Given the description of an element on the screen output the (x, y) to click on. 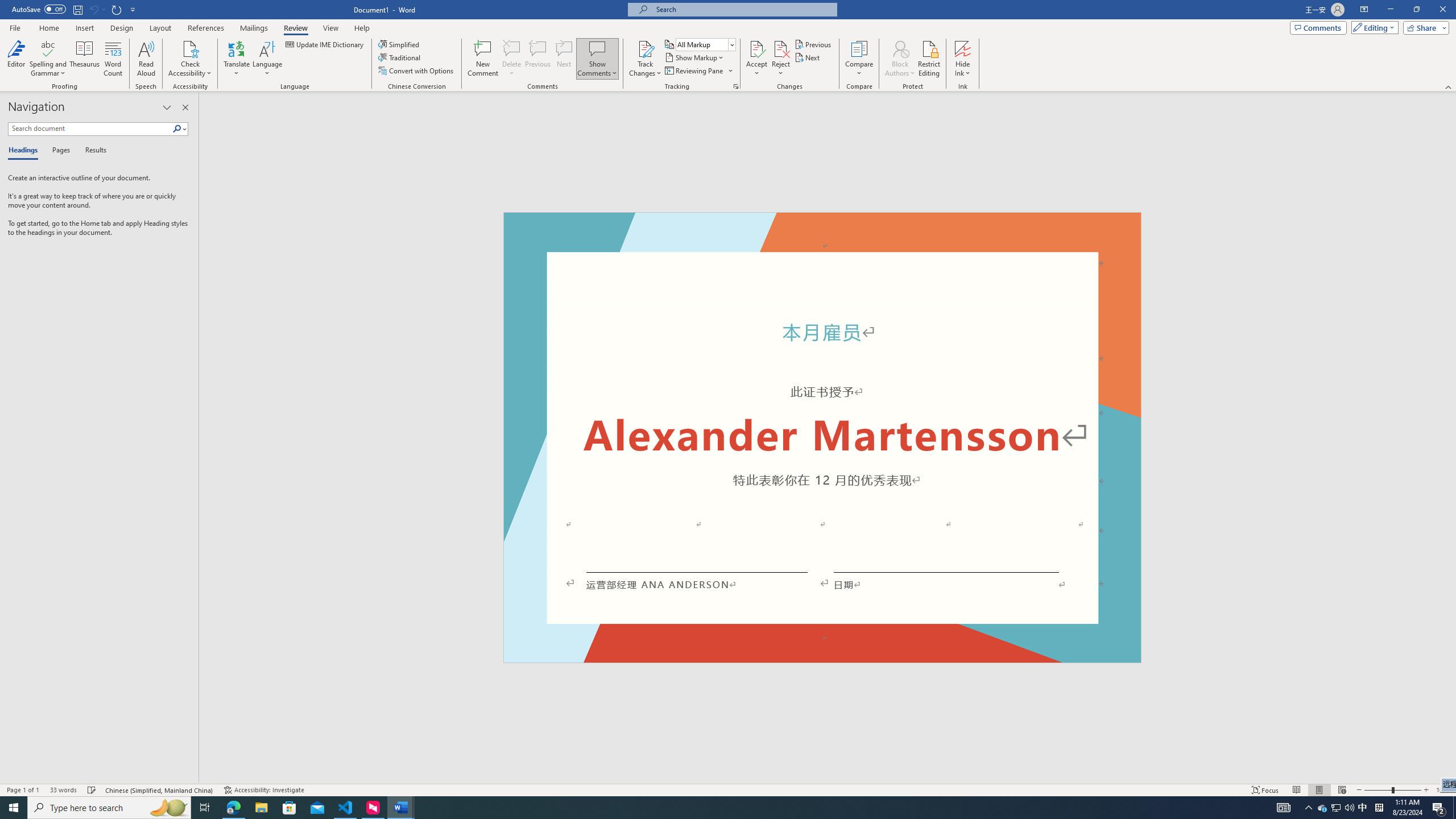
Spelling and Grammar (48, 48)
Can't Undo (96, 9)
Delete (511, 58)
Reviewing Pane (694, 69)
New Comment (482, 58)
Hide Ink (962, 48)
Decorative (822, 437)
Layout (160, 28)
Thesaurus... (84, 58)
Traditional (400, 56)
Block Authors (900, 48)
AutoSave (38, 9)
Class: NetUIImage (177, 128)
References (205, 28)
Spelling and Grammar (48, 58)
